Given the description of an element on the screen output the (x, y) to click on. 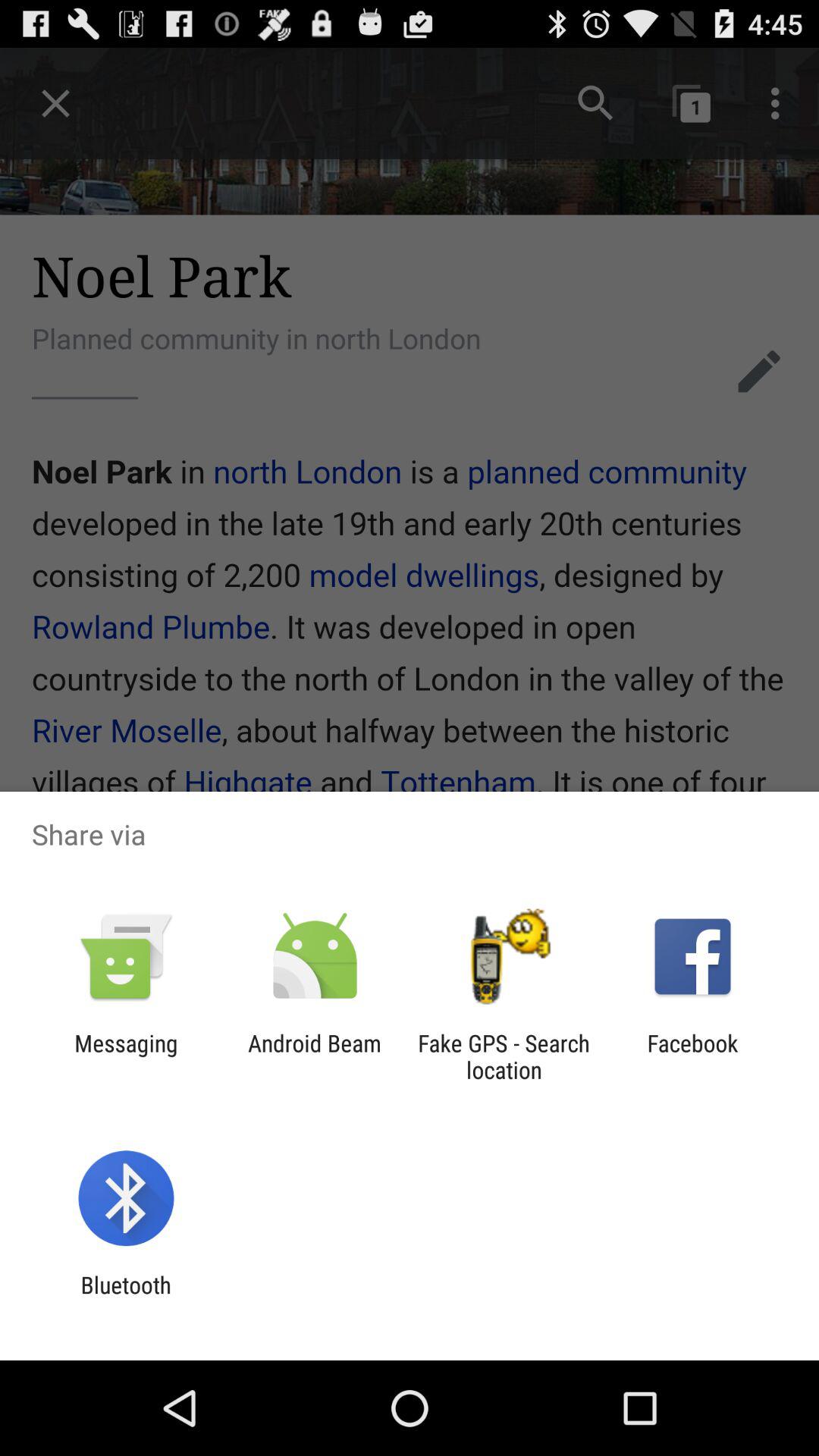
turn on item to the left of android beam item (126, 1056)
